Given the description of an element on the screen output the (x, y) to click on. 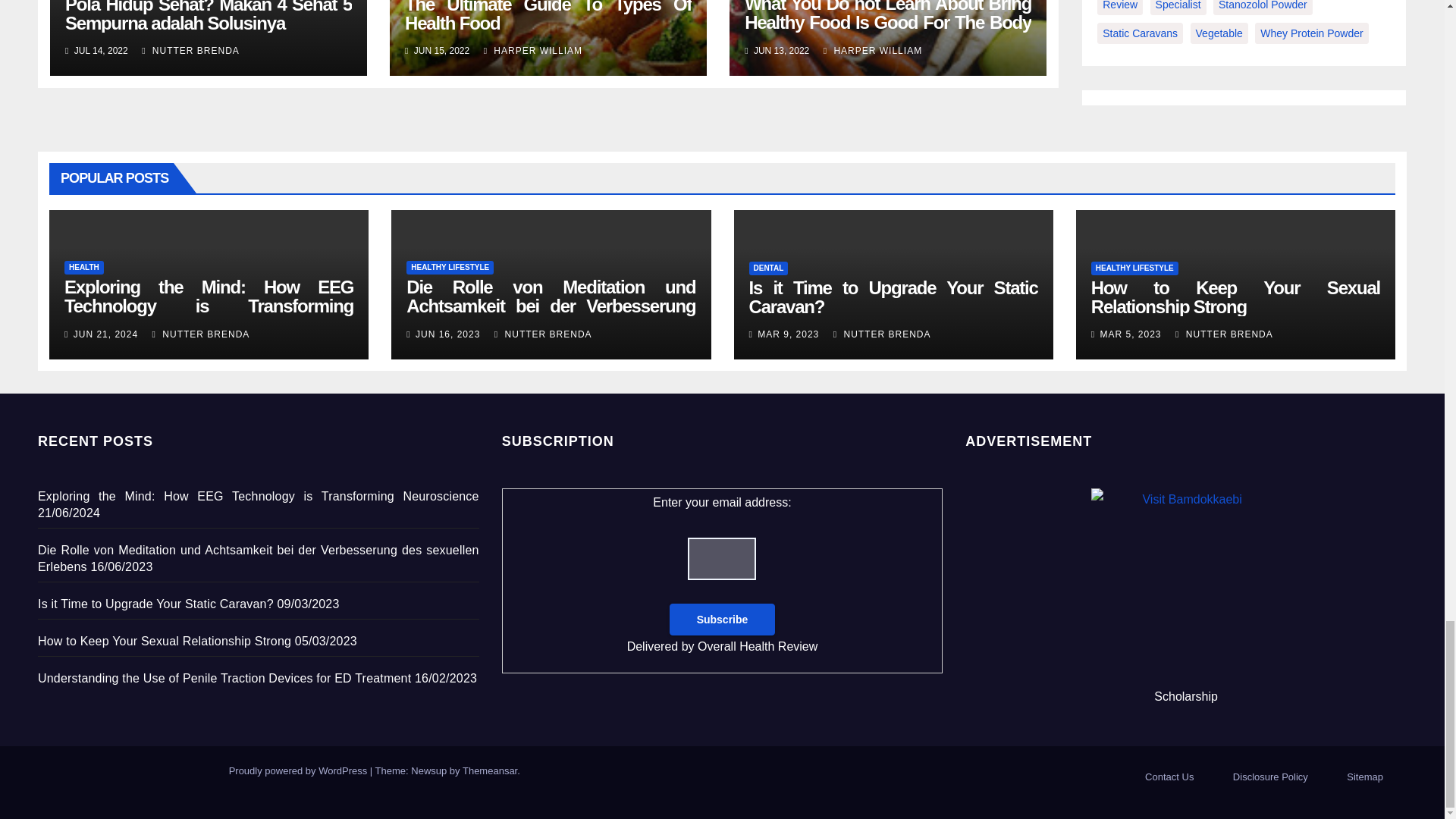
The Ultimate Guide To Types Of Health Food (547, 16)
Subscribe (722, 619)
Permalink to: The Ultimate Guide To Types Of Health Food (547, 16)
HARPER WILLIAM (532, 50)
HARPER WILLIAM (872, 50)
NUTTER BRENDA (190, 50)
Permalink to: Is it Time to Upgrade Your Static Caravan? (893, 296)
Pola Hidup Sehat? Makan 4 Sehat 5 Sempurna adalah Solusinya (208, 16)
